Given the description of an element on the screen output the (x, y) to click on. 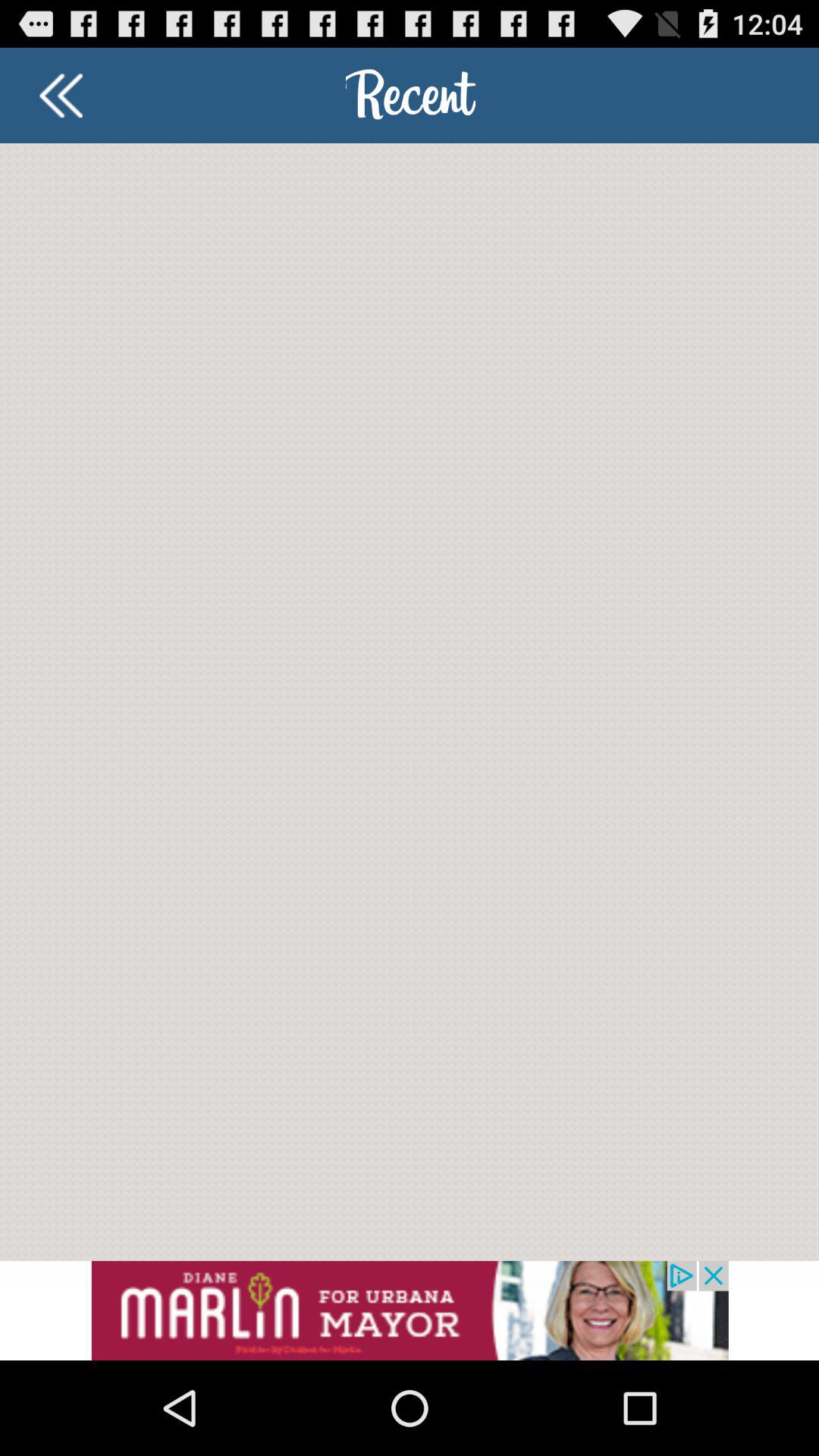
downloader for instagram photo video saver (61, 95)
